Given the description of an element on the screen output the (x, y) to click on. 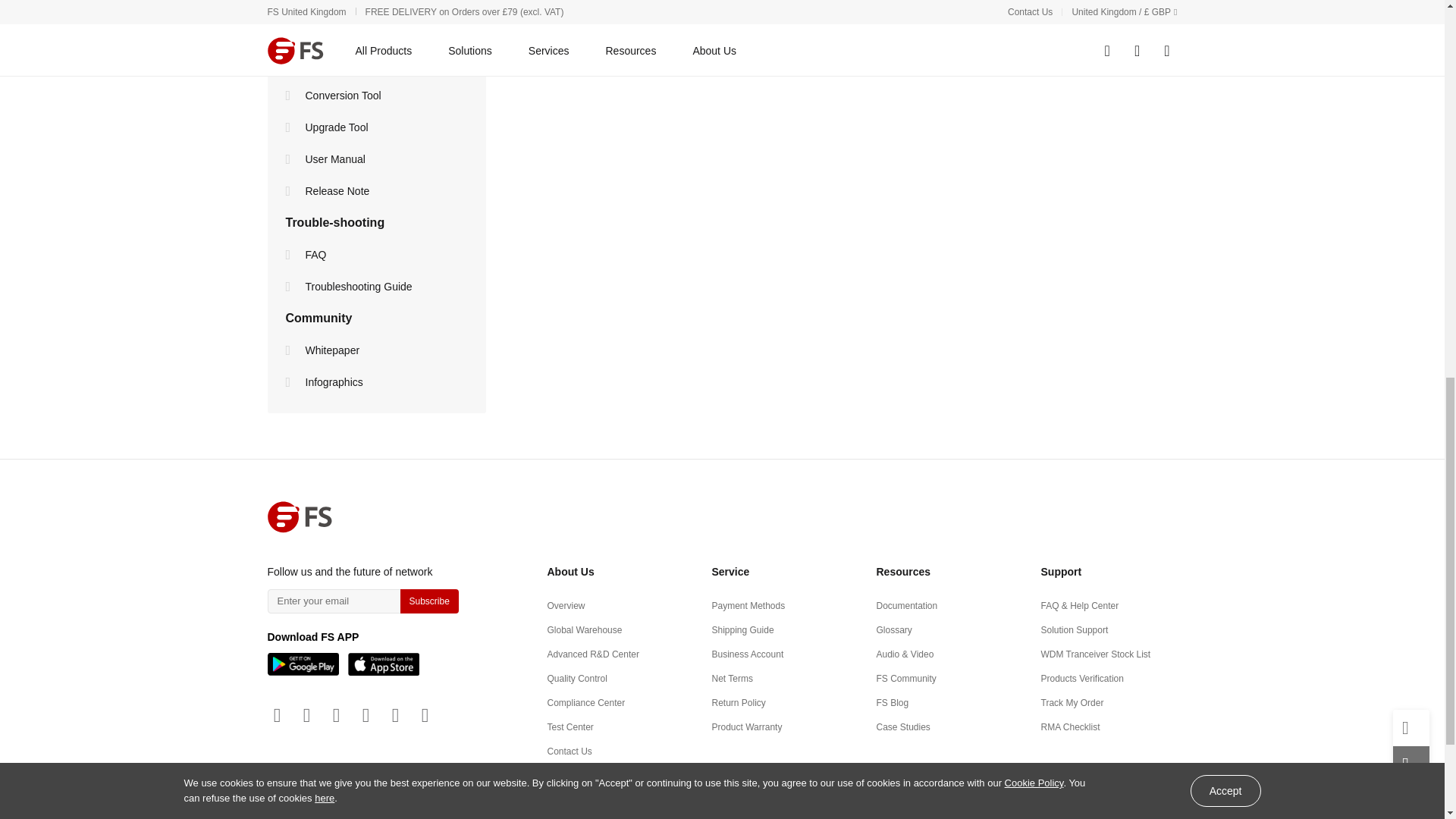
FS Reddit (424, 715)
FS Facebook (336, 715)
Release Note (291, 191)
FAQ (291, 254)
User Manual (291, 159)
Configuration Guide (291, 3)
FS Youtube (307, 715)
FS Instagram (394, 715)
FS Twitter (365, 715)
Software (291, 63)
